Given the description of an element on the screen output the (x, y) to click on. 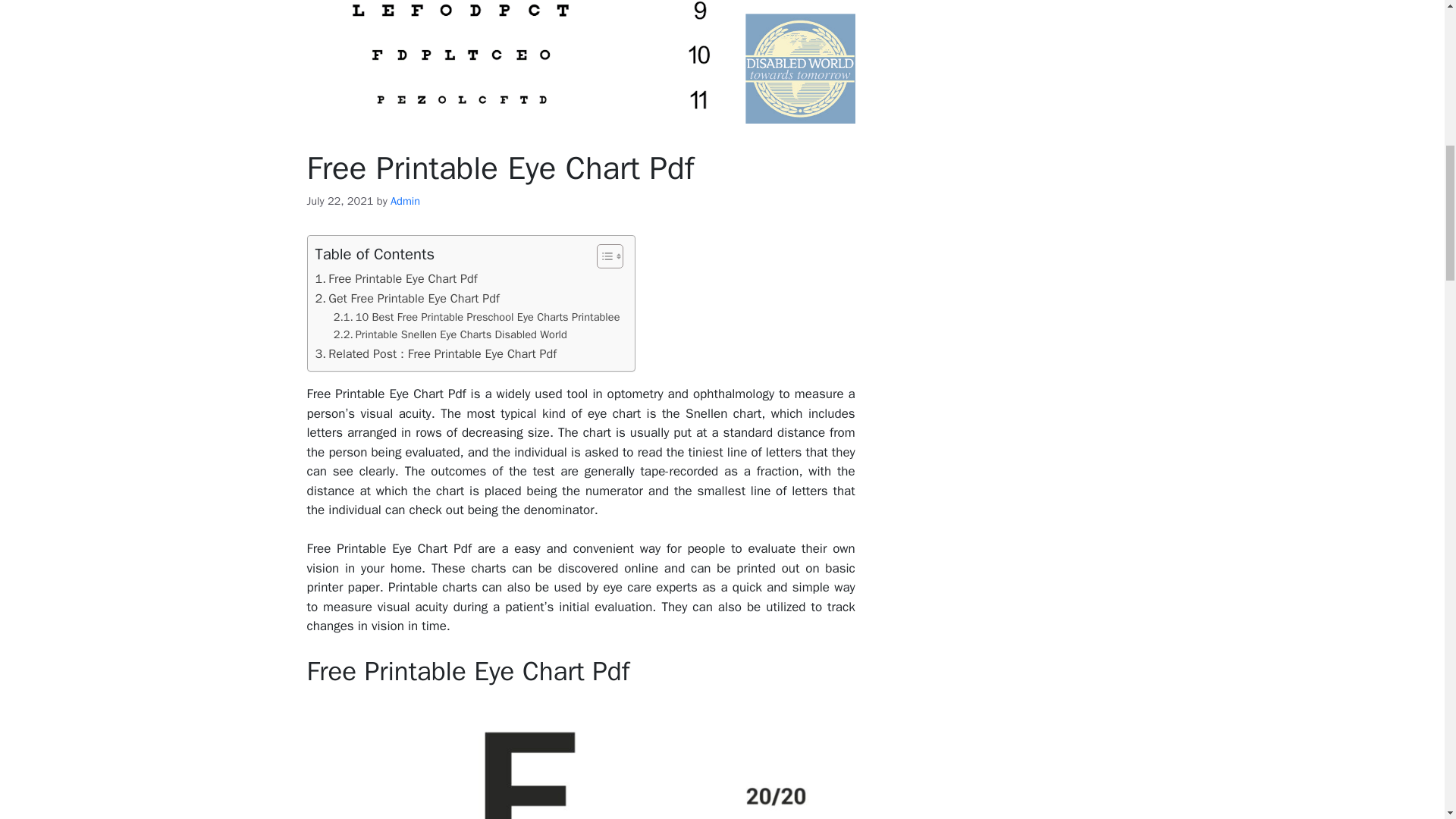
Get Free Printable Eye Chart Pdf (407, 298)
Free Printable Eye Chart Pdf (396, 279)
Related Post : Free Printable Eye Chart Pdf (436, 353)
Free Printable Eye Chart Pdf (579, 760)
Printable Snellen Eye Charts Disabled World (450, 334)
Free Printable Eye Chart Pdf (396, 279)
10 Best Free Printable Preschool Eye Charts Printablee (476, 316)
Related Post : Free Printable Eye Chart Pdf (436, 353)
View all posts by Admin (405, 201)
Printable Snellen Eye Charts Disabled World (450, 334)
10 Best Free Printable Preschool Eye Charts Printablee (476, 316)
Admin (405, 201)
Get Free Printable Eye Chart Pdf (407, 298)
